Given the description of an element on the screen output the (x, y) to click on. 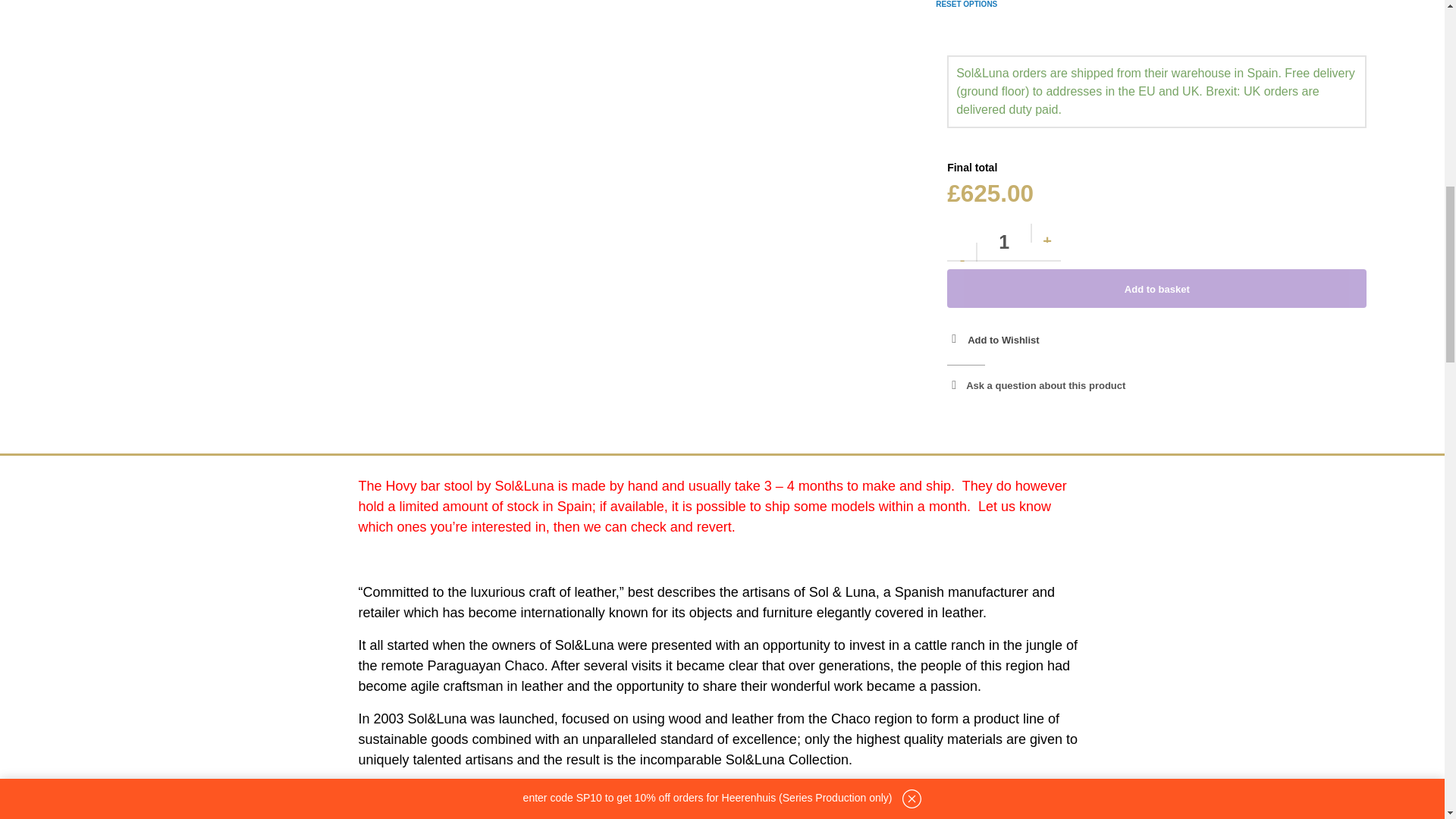
Qty (1004, 242)
1 (1004, 242)
